Given the description of an element on the screen output the (x, y) to click on. 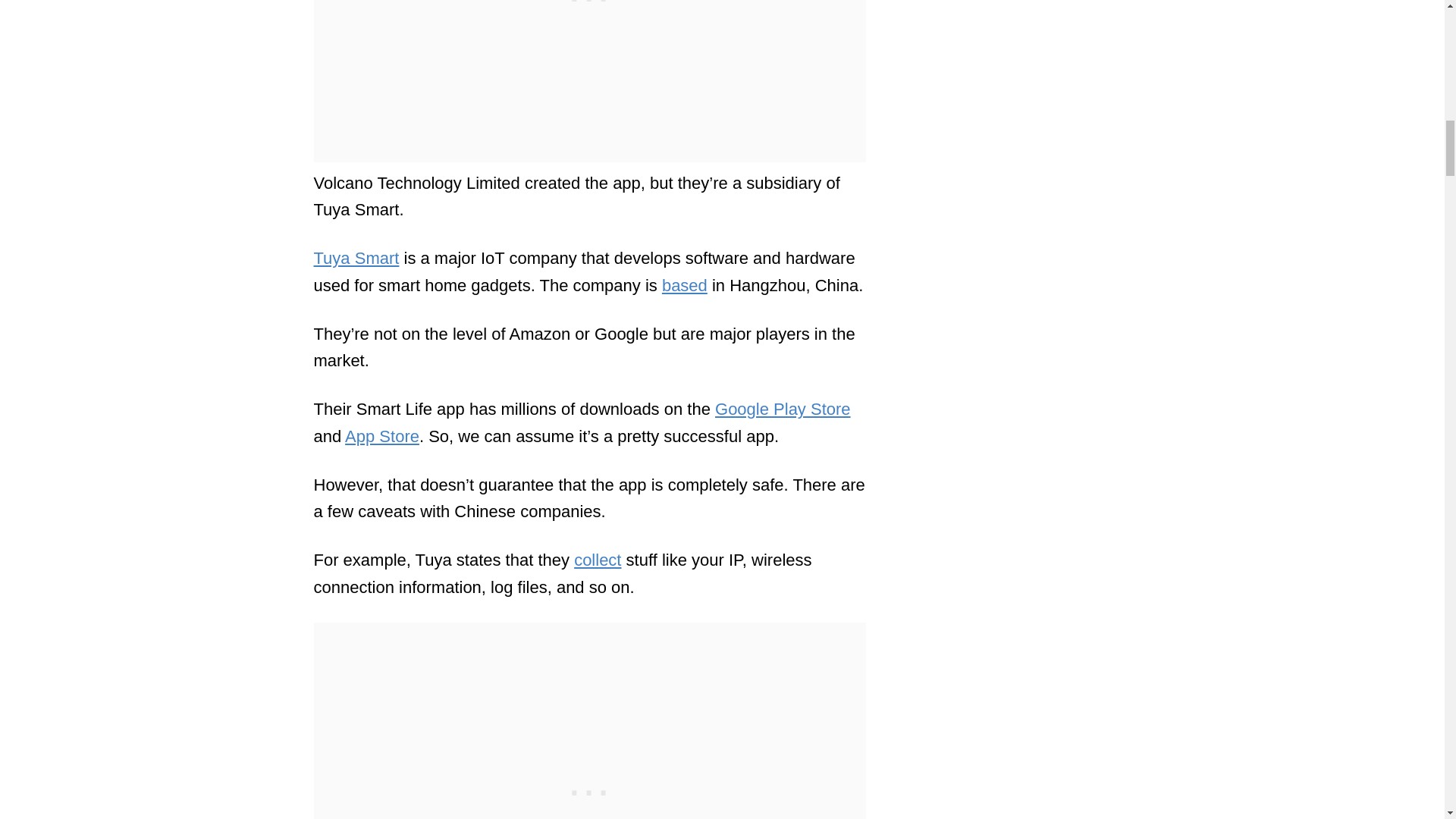
based (684, 285)
Google Play Store (782, 408)
collect (597, 559)
Tuya Smart (356, 257)
App Store (382, 435)
